Given the description of an element on the screen output the (x, y) to click on. 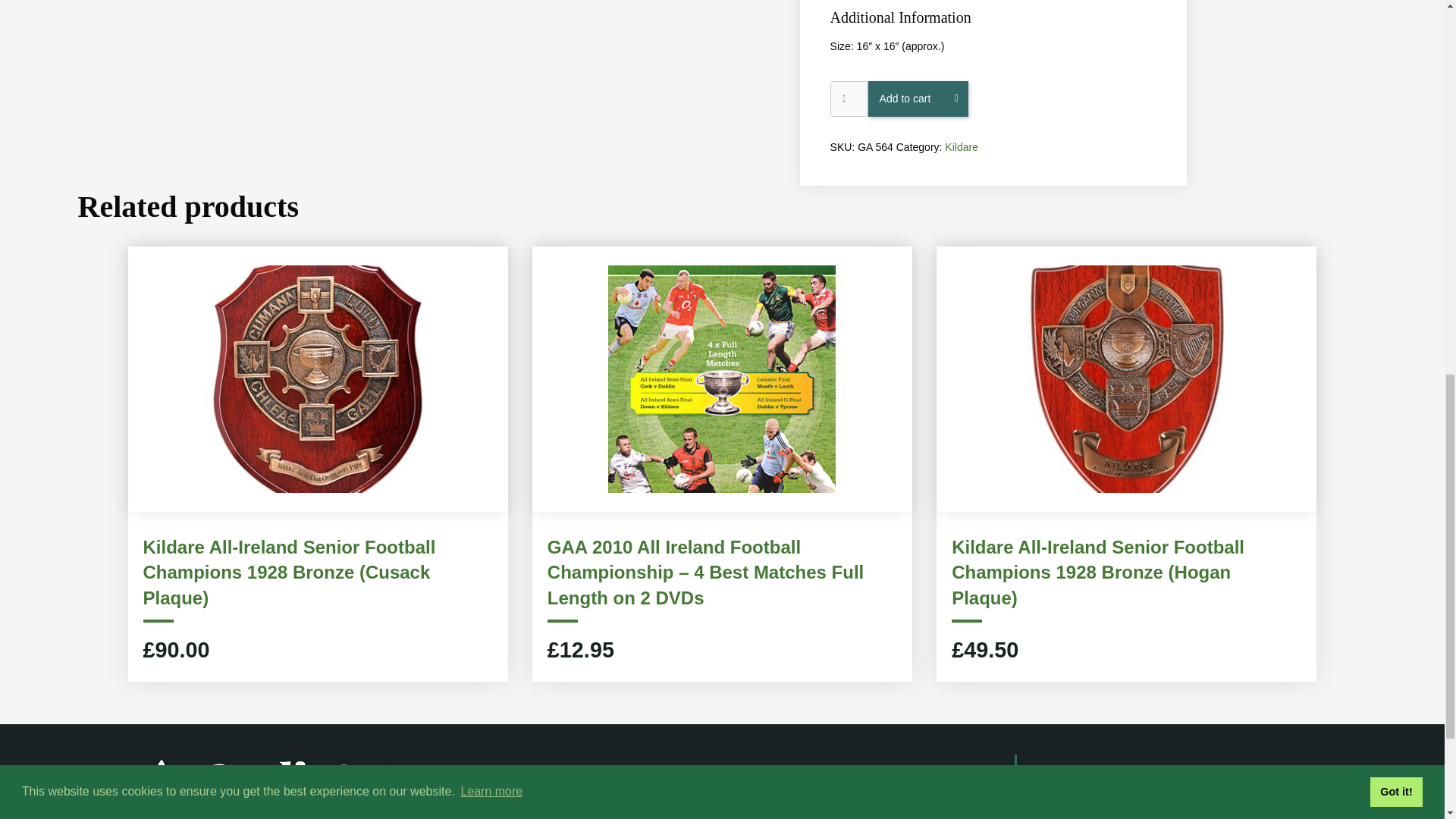
1 (848, 99)
Qty (848, 99)
